Given the description of an element on the screen output the (x, y) to click on. 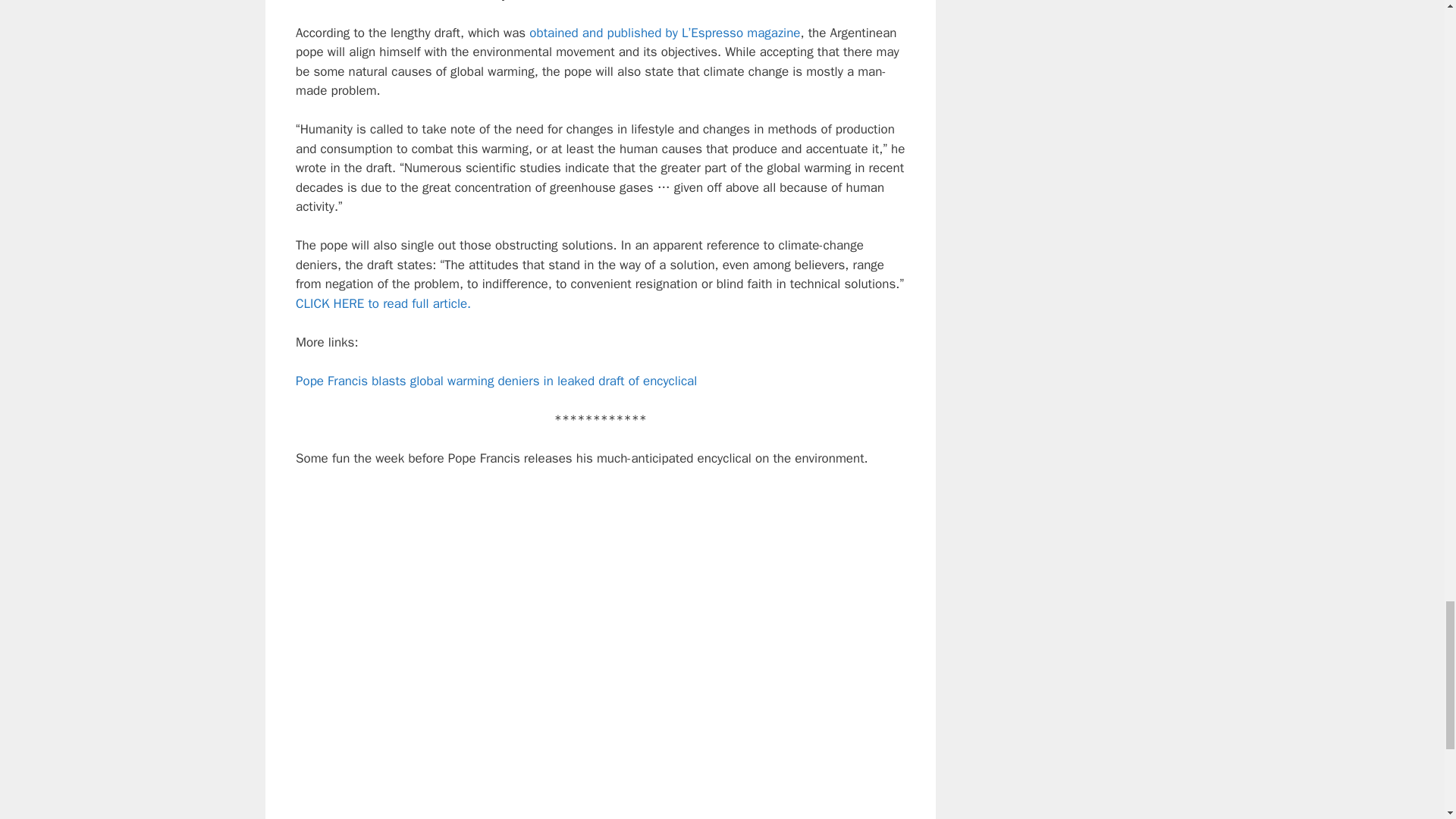
CLICK HERE to read full article. (382, 303)
